Given the description of an element on the screen output the (x, y) to click on. 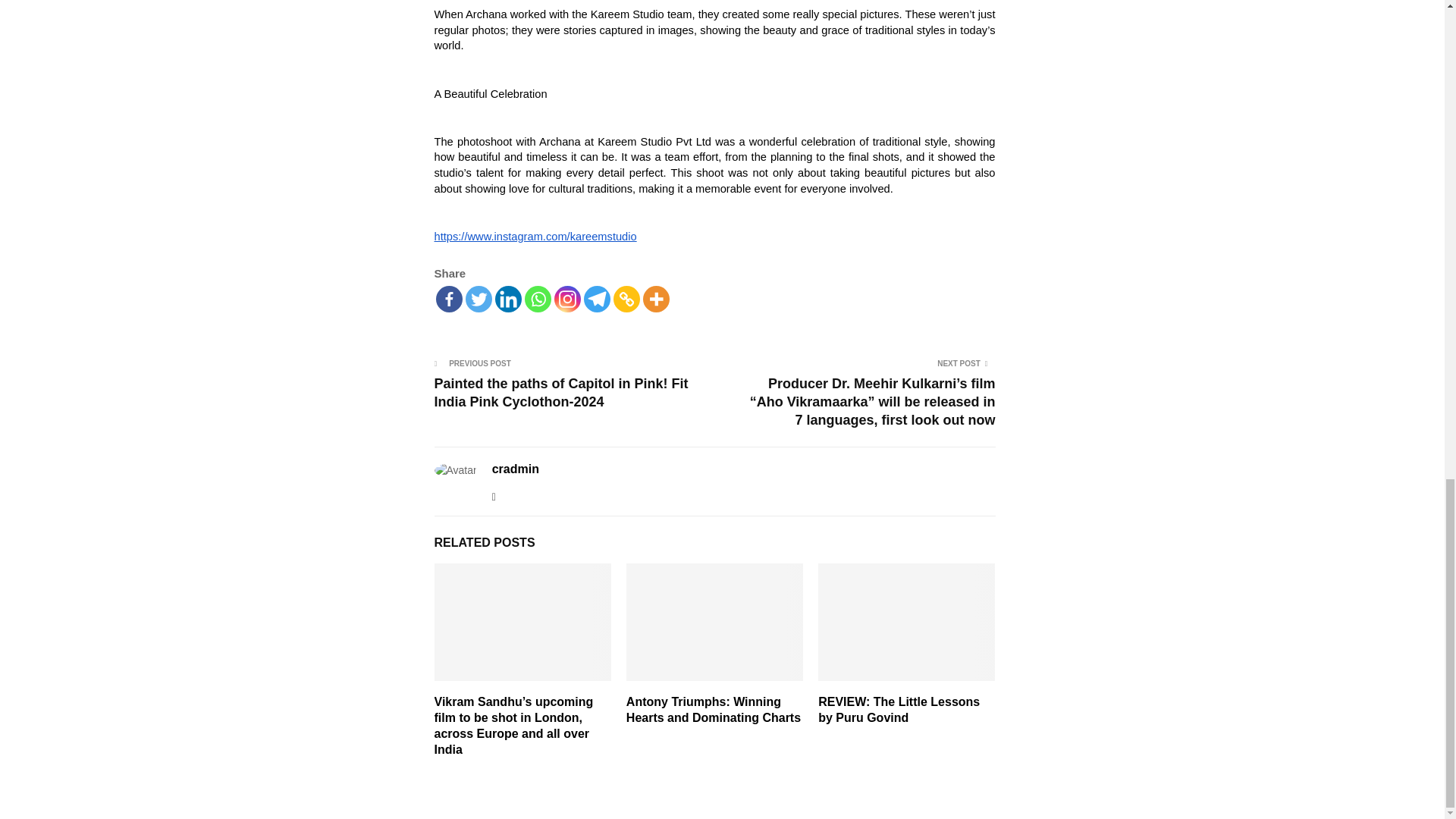
Twitter (478, 298)
Facebook (448, 298)
Linkedin (508, 298)
